Given the description of an element on the screen output the (x, y) to click on. 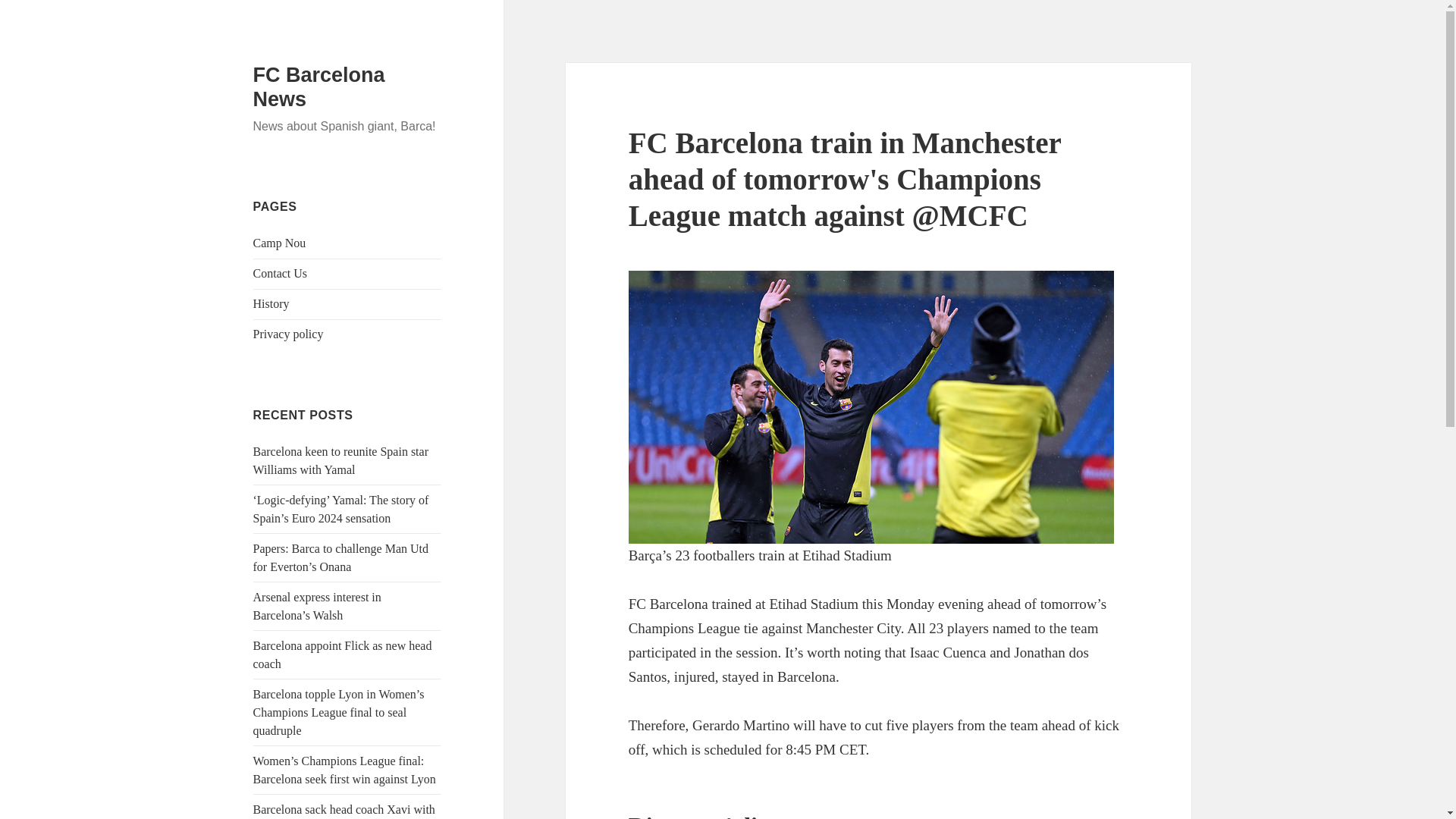
Camp Nou (279, 242)
FC Barcelona News (319, 86)
Barcelona keen to reunite Spain star Williams with Yamal (340, 460)
Contact Us (280, 273)
History (271, 303)
Barcelona appoint Flick as new head coach (342, 654)
Privacy policy (288, 333)
